Given the description of an element on the screen output the (x, y) to click on. 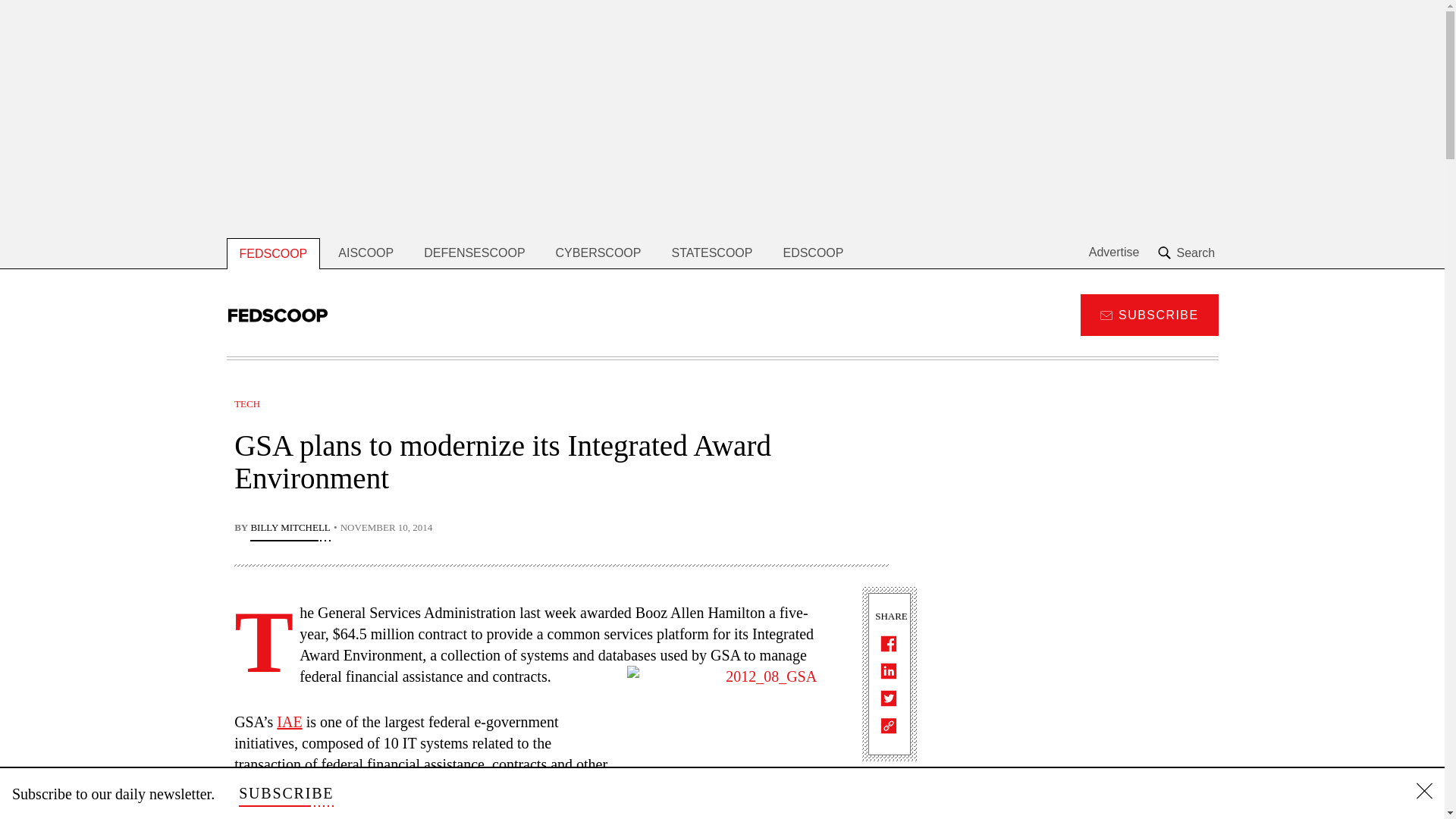
BILLY MITCHELL (290, 528)
AISCOOP (366, 253)
EDSCOOP (813, 253)
TECH (247, 403)
SUBSCRIBE (1148, 314)
CYBERSCOOP (598, 253)
STATESCOOP (711, 253)
Billy Mitchell (290, 528)
FEDSCOOP (272, 253)
SUBSCRIBE (285, 793)
CLOSE (1424, 793)
Search (1187, 252)
Advertise (1114, 252)
DEFENSESCOOP (474, 253)
